Given the description of an element on the screen output the (x, y) to click on. 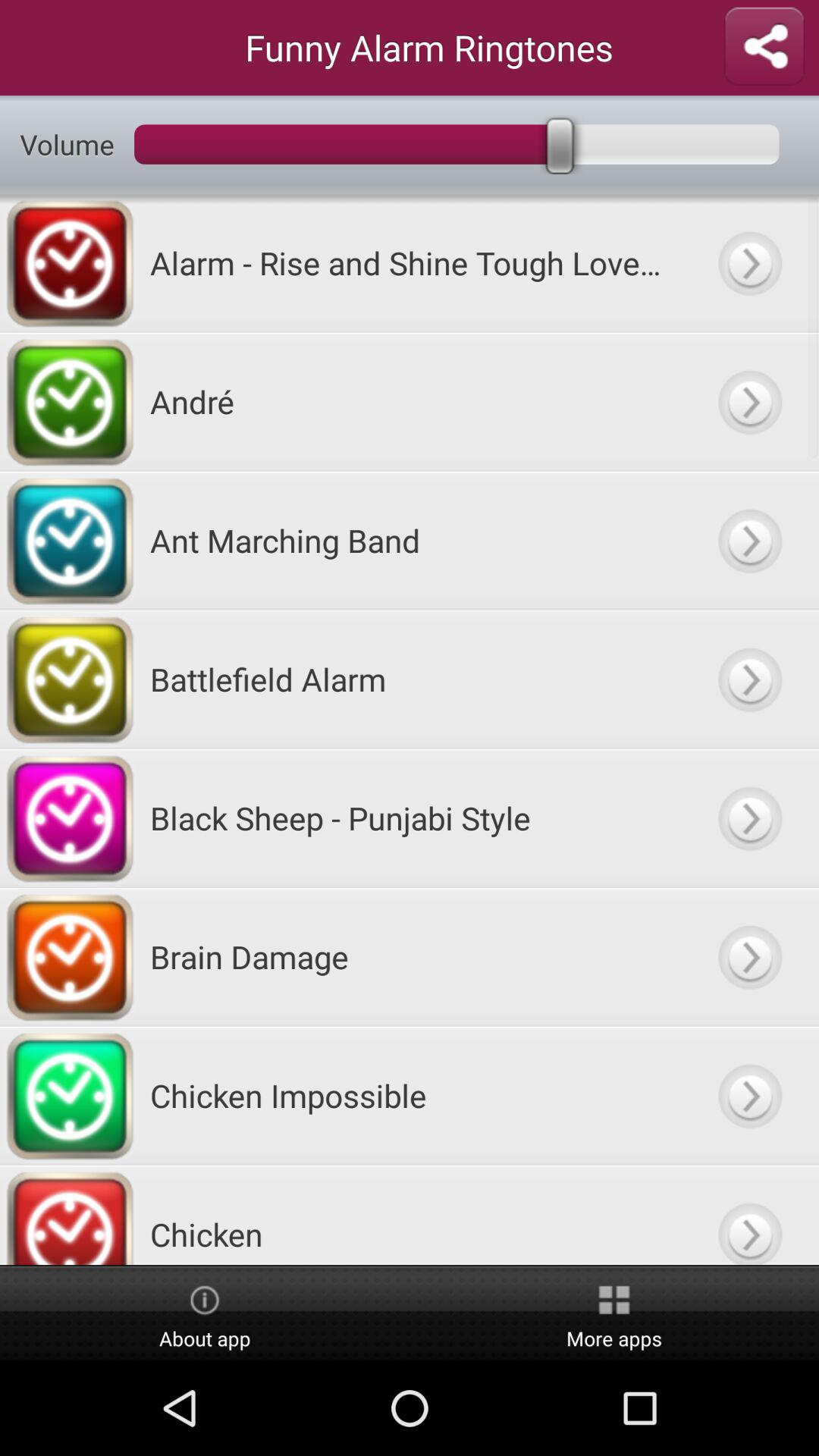
play alarm sound (749, 262)
